Given the description of an element on the screen output the (x, y) to click on. 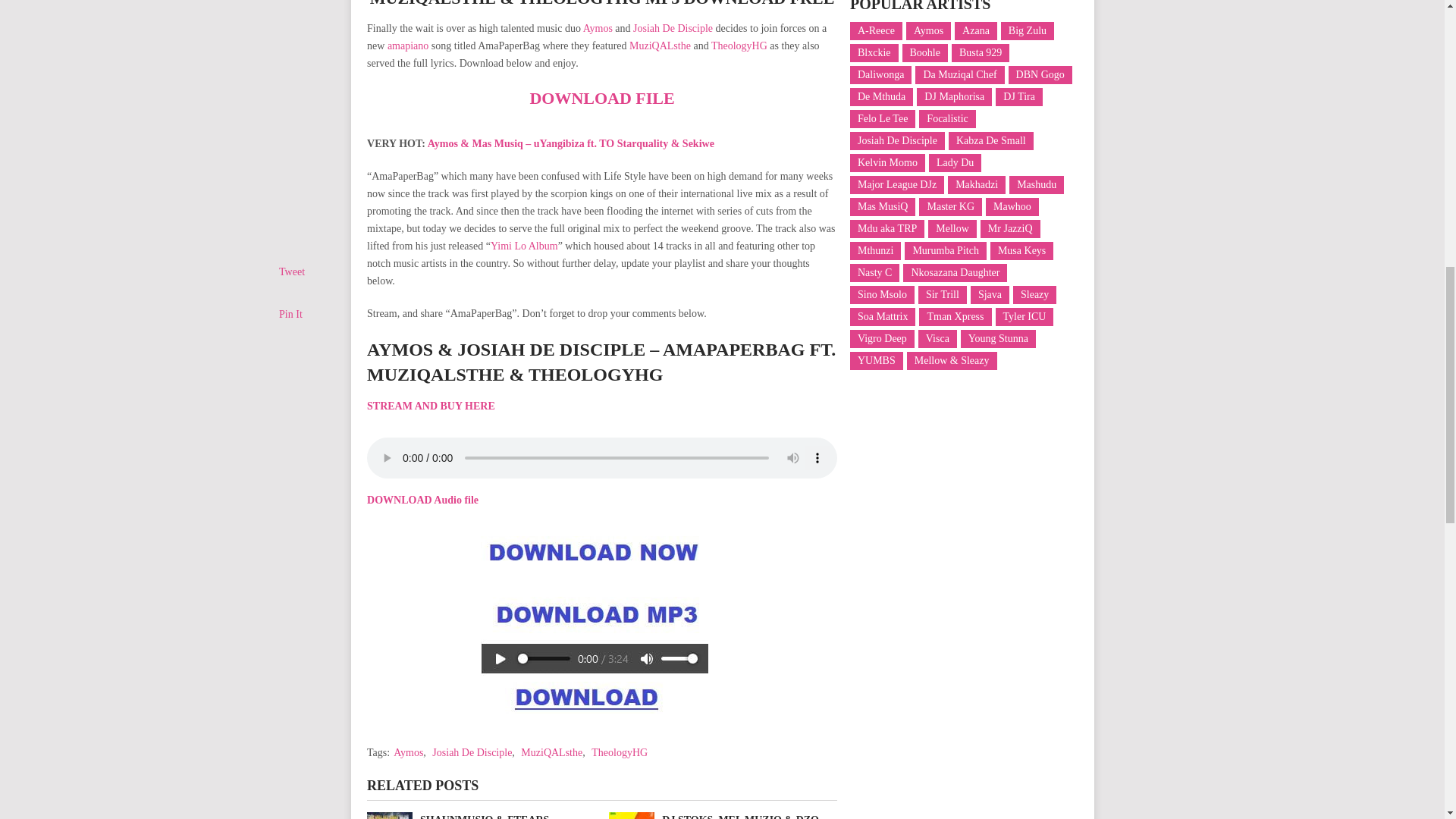
Yimi Lo Album (523, 245)
Aymos (408, 752)
Josiah De Disciple (673, 28)
MuziQALsthe (659, 45)
Aymos (597, 28)
DOWNLOAD FILE (601, 97)
DOWNLOAD Audio file (422, 500)
TheologyHG (739, 45)
amapiano (407, 45)
STREAM AND BUY HERE (430, 405)
